Given the description of an element on the screen output the (x, y) to click on. 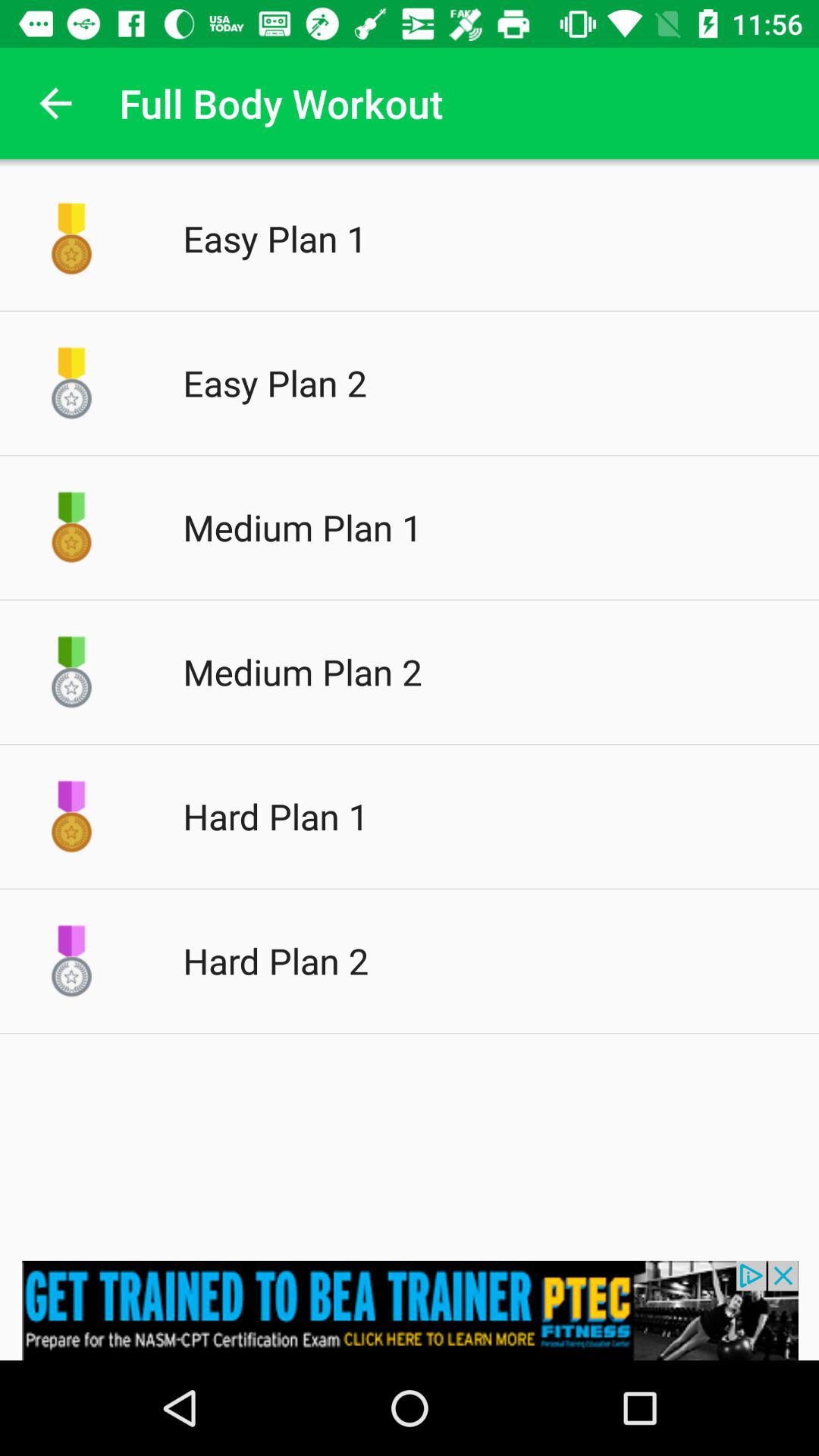
advertisement banner (409, 1310)
